Given the description of an element on the screen output the (x, y) to click on. 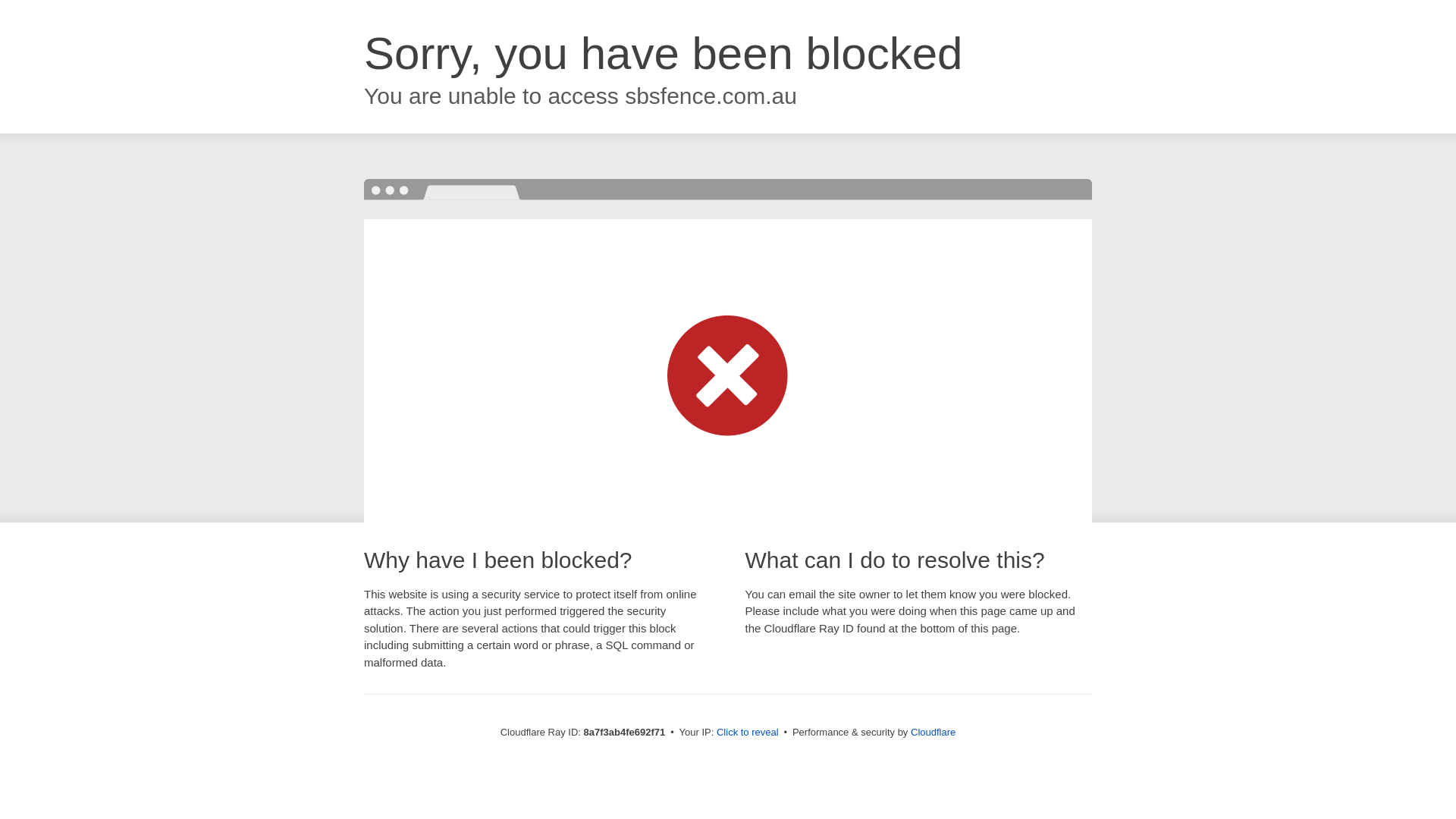
Click to reveal (747, 732)
Cloudflare (933, 731)
